Given the description of an element on the screen output the (x, y) to click on. 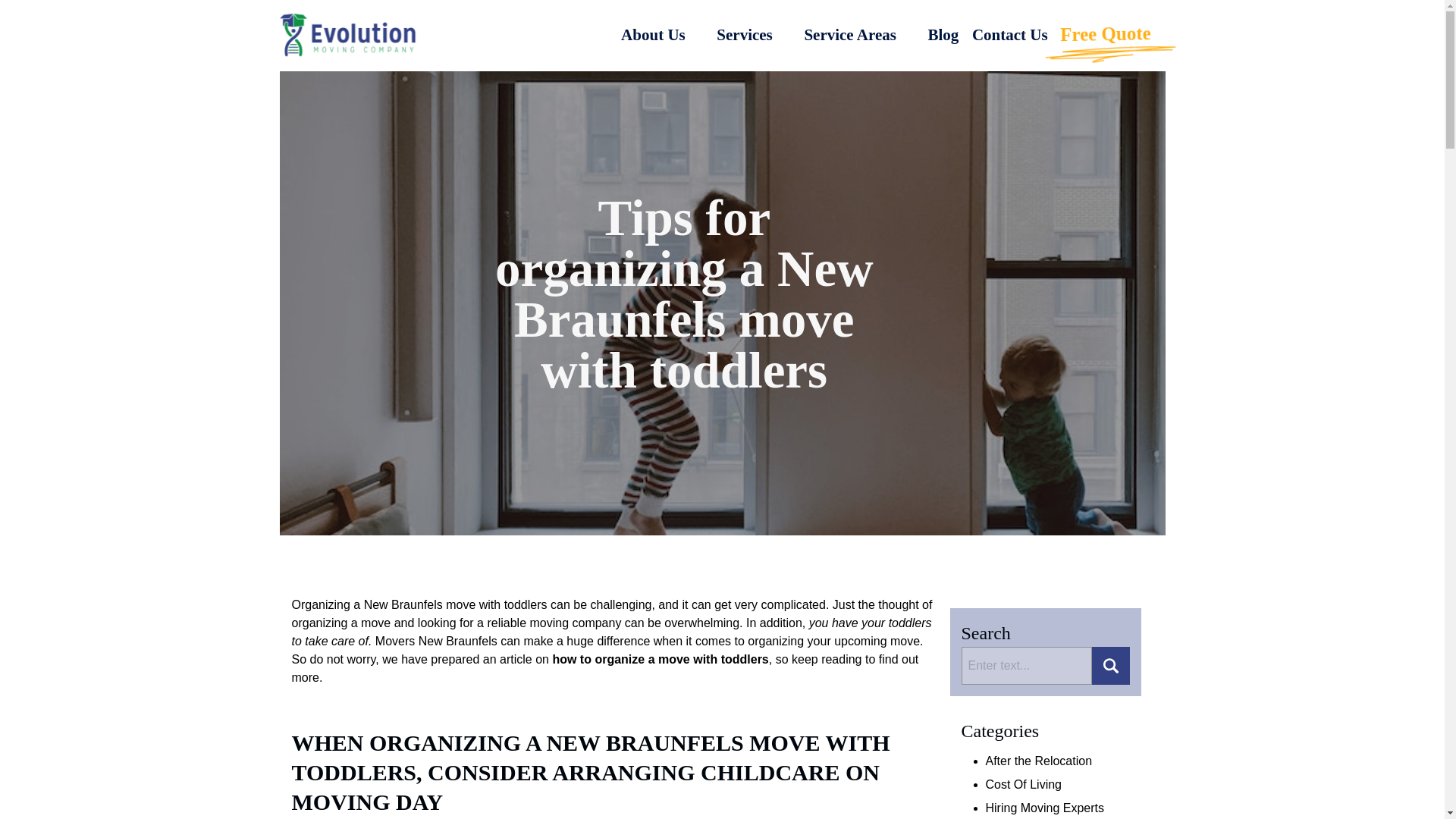
Services (753, 34)
Evolution-Moving-logo (346, 35)
About Us (662, 34)
